Given the description of an element on the screen output the (x, y) to click on. 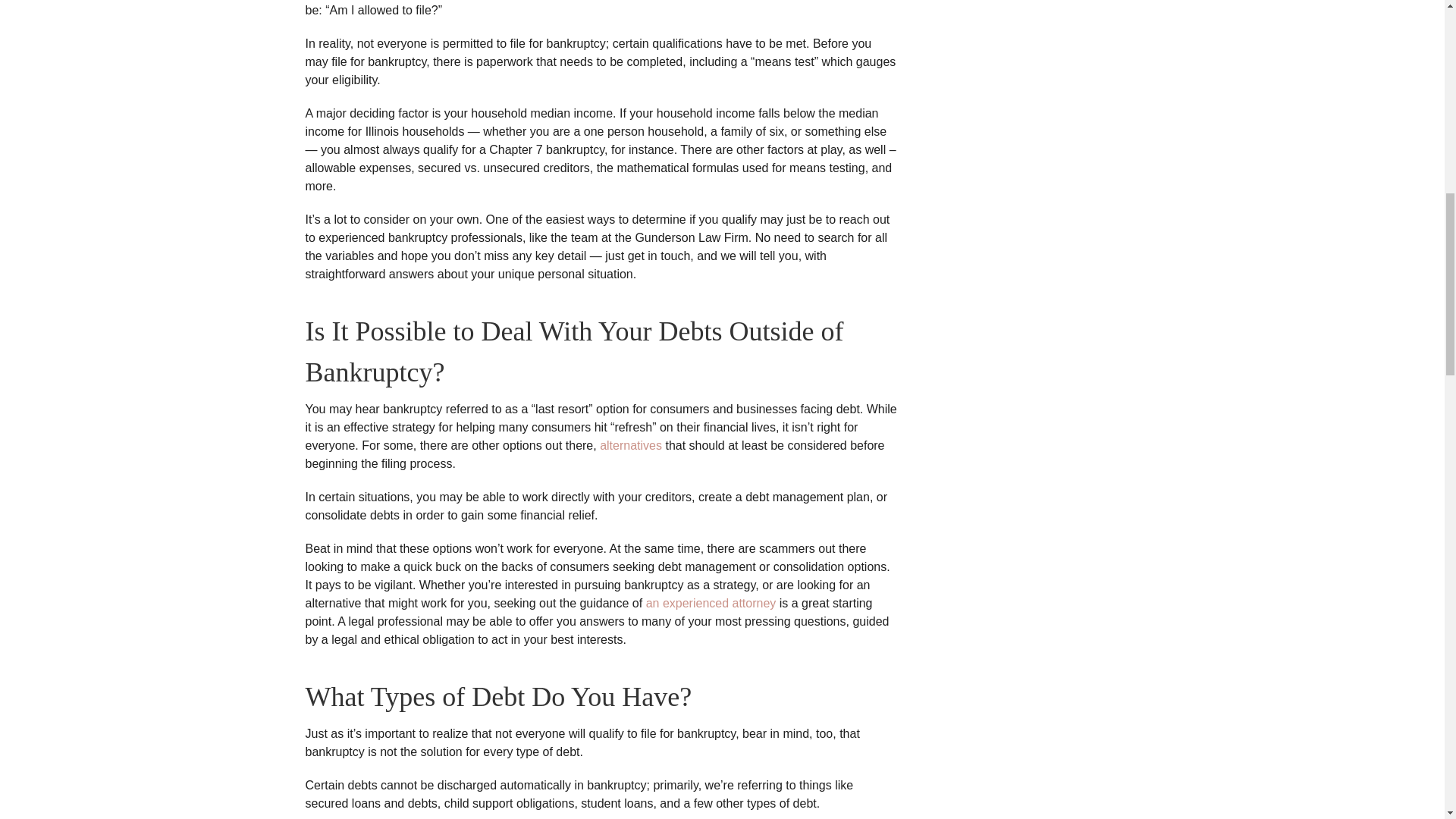
an experienced attorney (711, 603)
alternatives (630, 445)
